Given the description of an element on the screen output the (x, y) to click on. 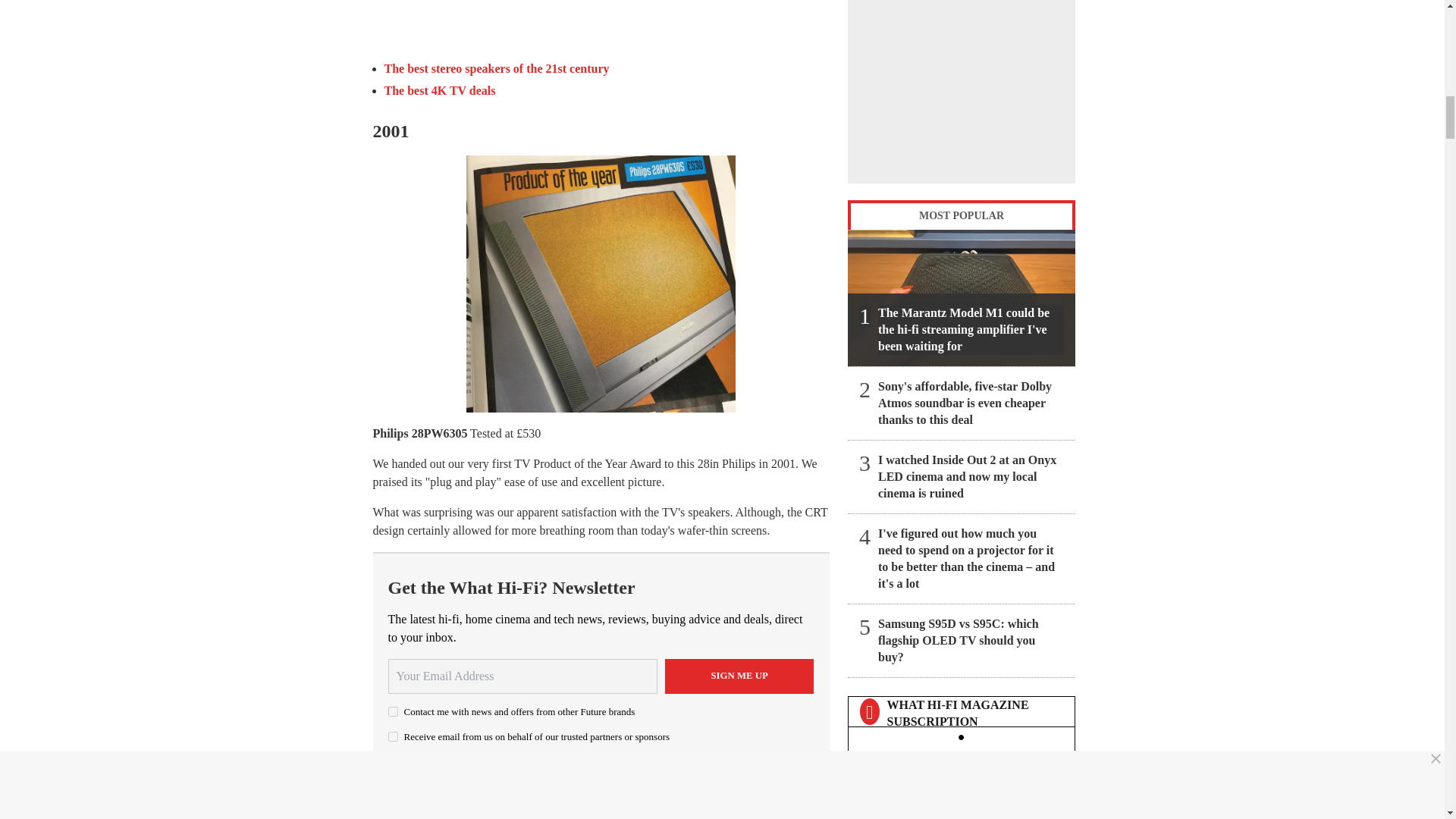
on (392, 737)
on (392, 711)
Sign me up (739, 676)
